Given the description of an element on the screen output the (x, y) to click on. 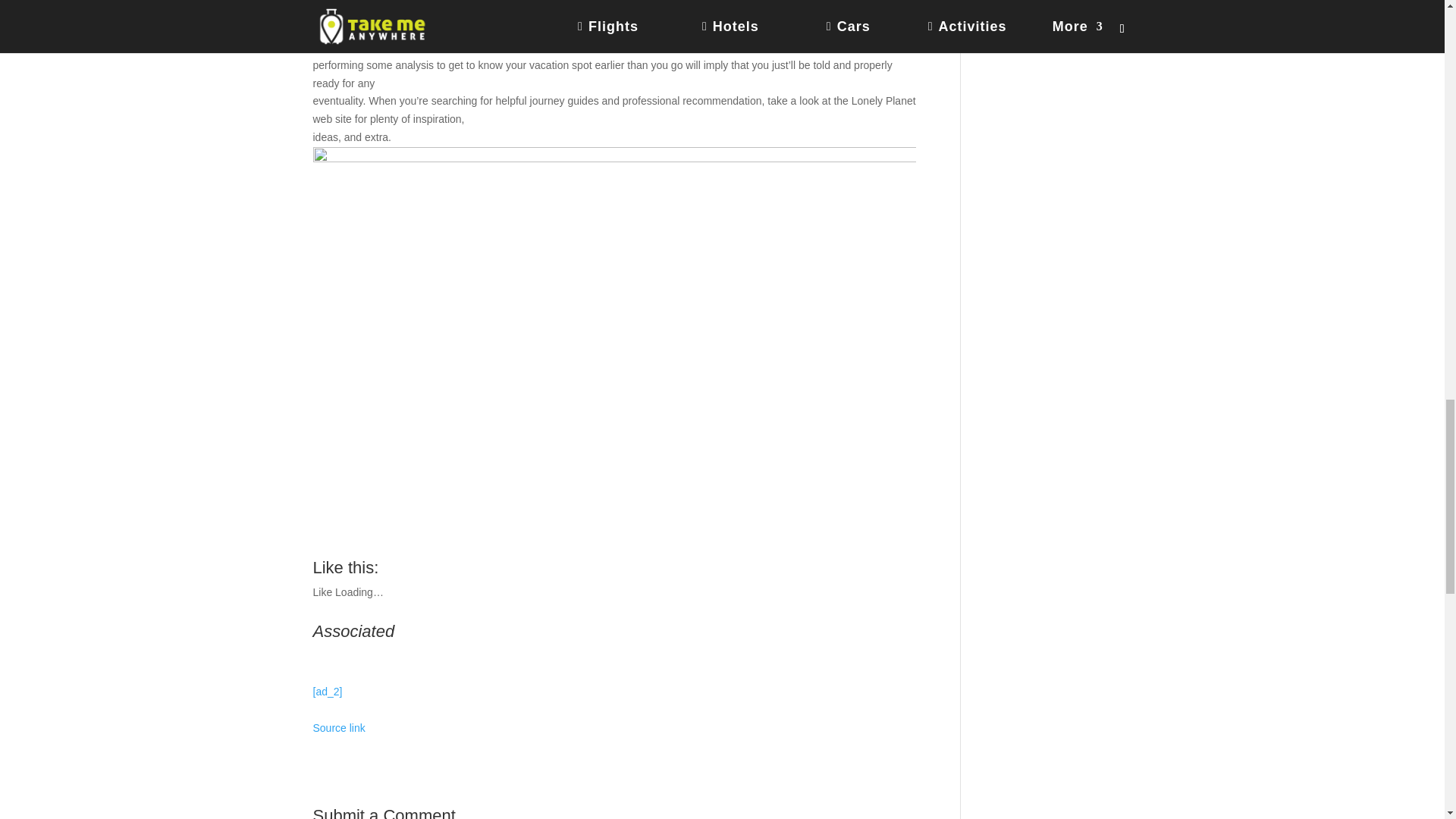
Source link (339, 727)
Associated (614, 629)
